Given the description of an element on the screen output the (x, y) to click on. 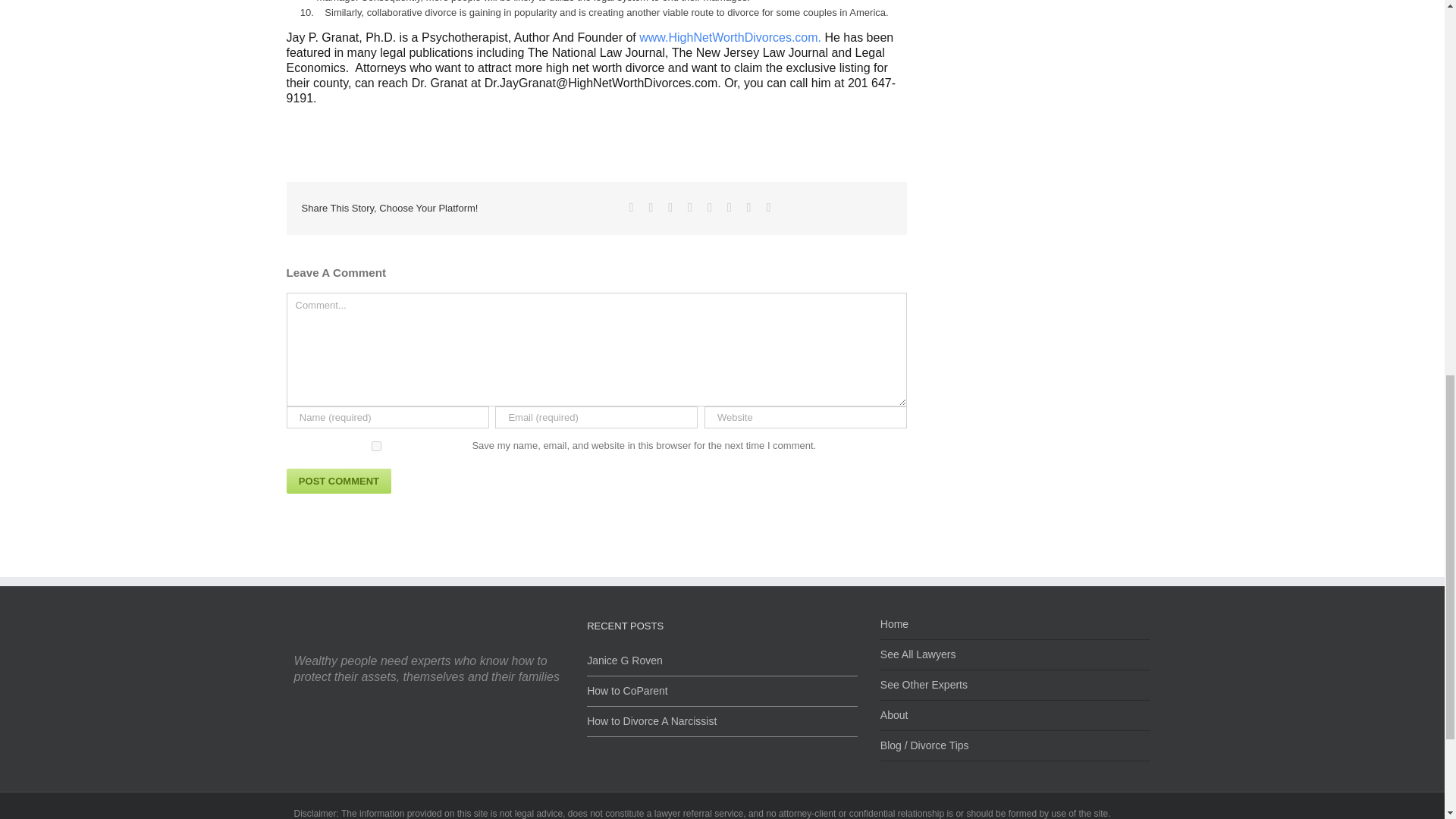
About (1015, 716)
Janice G Roven (721, 660)
yes (376, 446)
Post Comment (338, 480)
Post Comment (338, 480)
See All Lawyers (1015, 654)
www.HighNetWorthDivorces.com. (731, 37)
Home (1015, 629)
See Other Experts (1015, 685)
How to Divorce A Narcissist (721, 716)
